Given the description of an element on the screen output the (x, y) to click on. 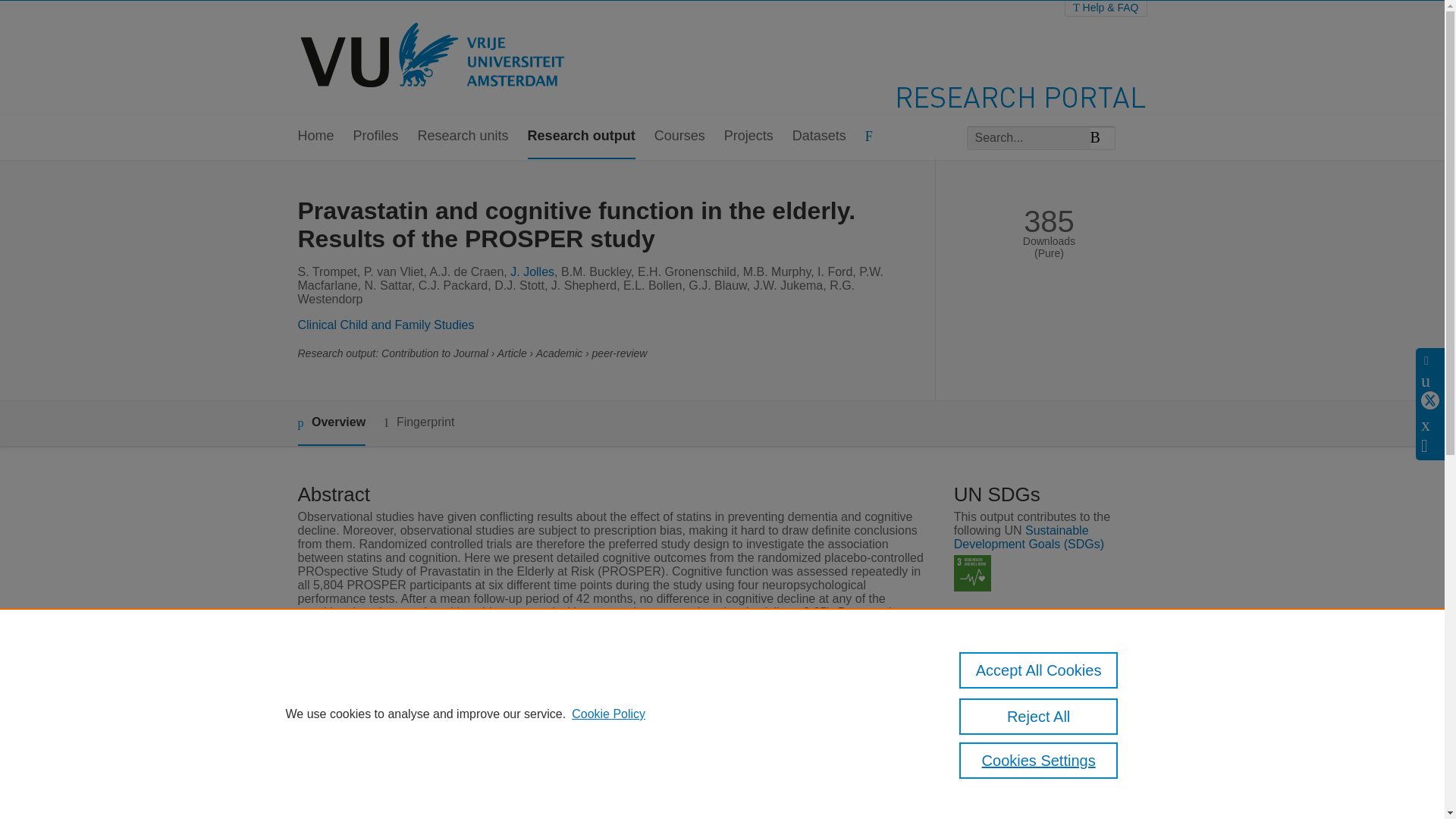
259174 (986, 670)
Courses (678, 136)
Fingerprint (419, 422)
Research units (462, 136)
Clinical Child and Family Studies (385, 324)
Copy link address (1016, 767)
Research output (580, 136)
Overview (331, 423)
Profiles (375, 136)
